Given the description of an element on the screen output the (x, y) to click on. 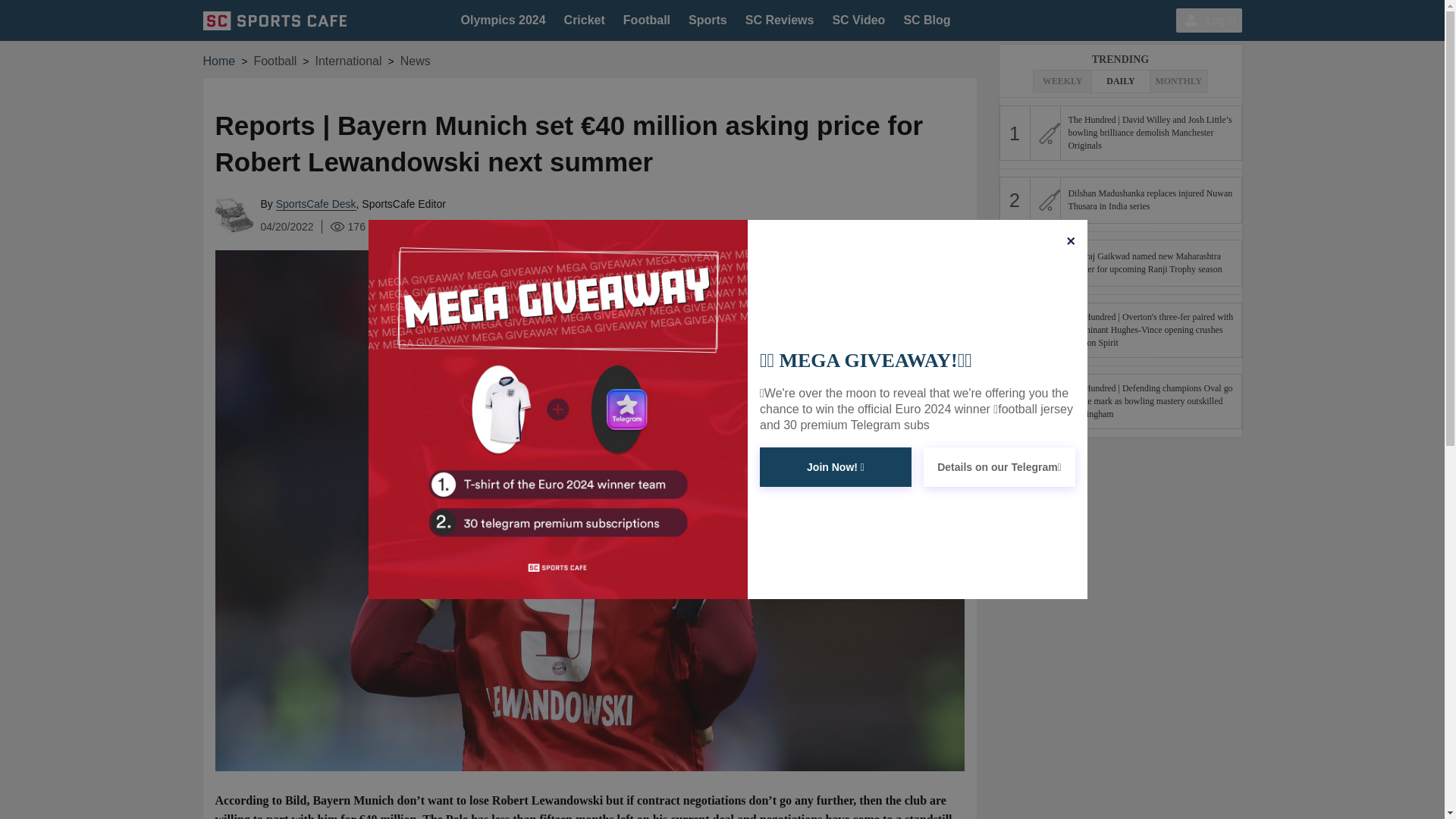
Sports (707, 19)
Football (646, 19)
Olympics 2024 (503, 19)
Cricket (584, 19)
